Given the description of an element on the screen output the (x, y) to click on. 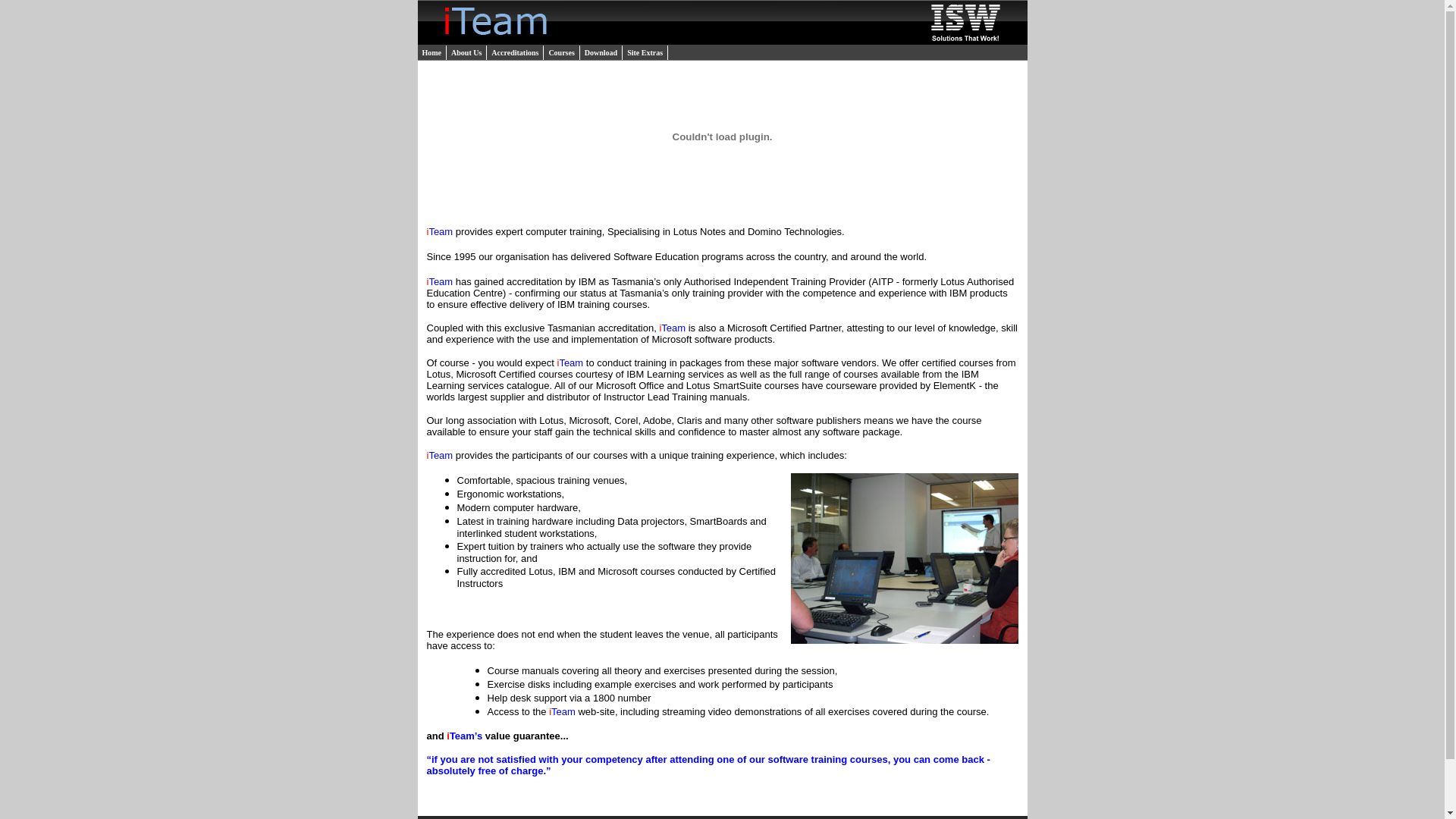
Courses Element type: text (561, 52)
Site Extras Element type: text (645, 52)
Accreditations Element type: text (514, 52)
Home Element type: text (431, 52)
Download Element type: text (601, 52)
About Us Element type: text (466, 52)
